Given the description of an element on the screen output the (x, y) to click on. 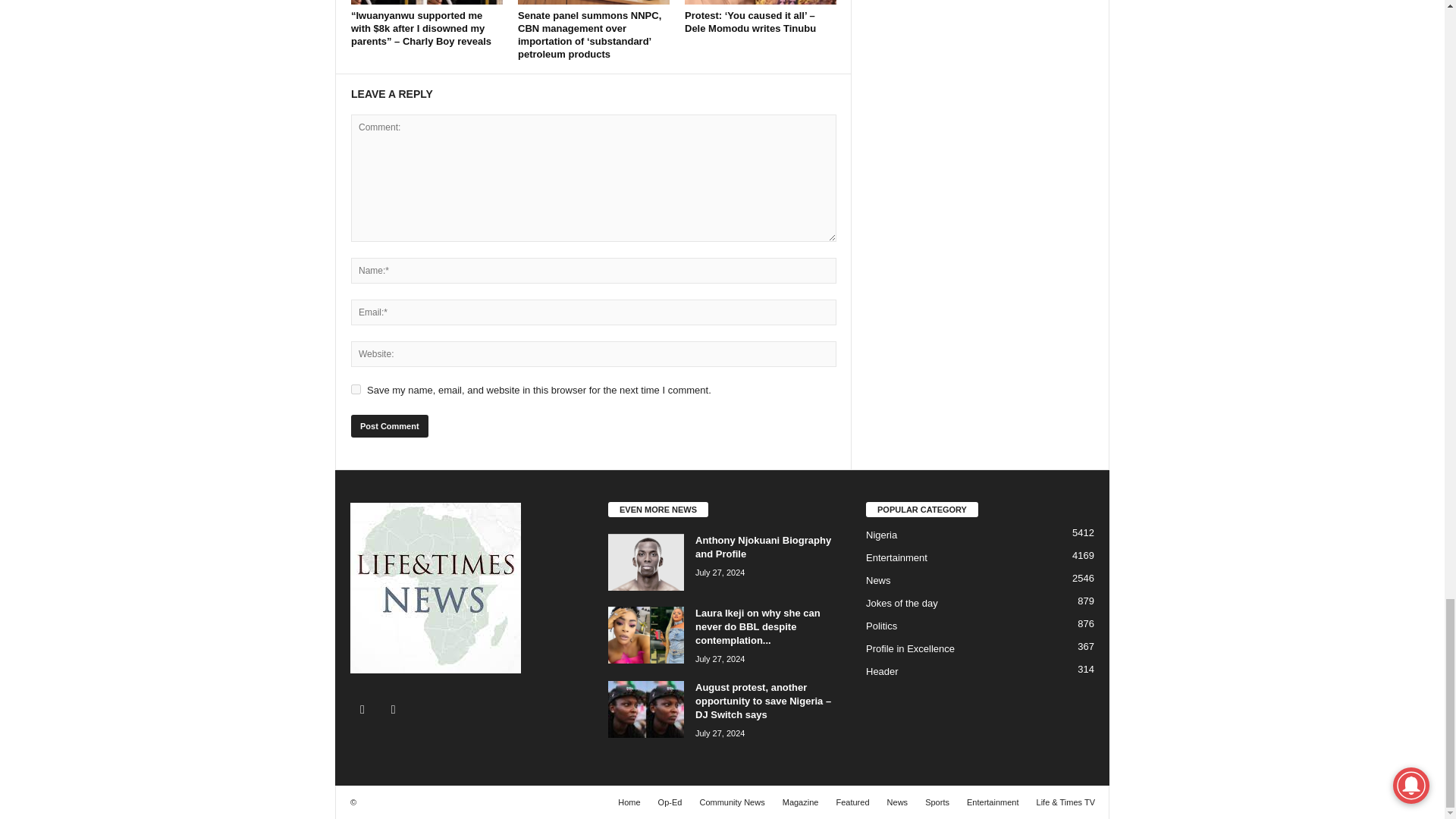
yes (355, 388)
Post Comment (389, 425)
